Given the description of an element on the screen output the (x, y) to click on. 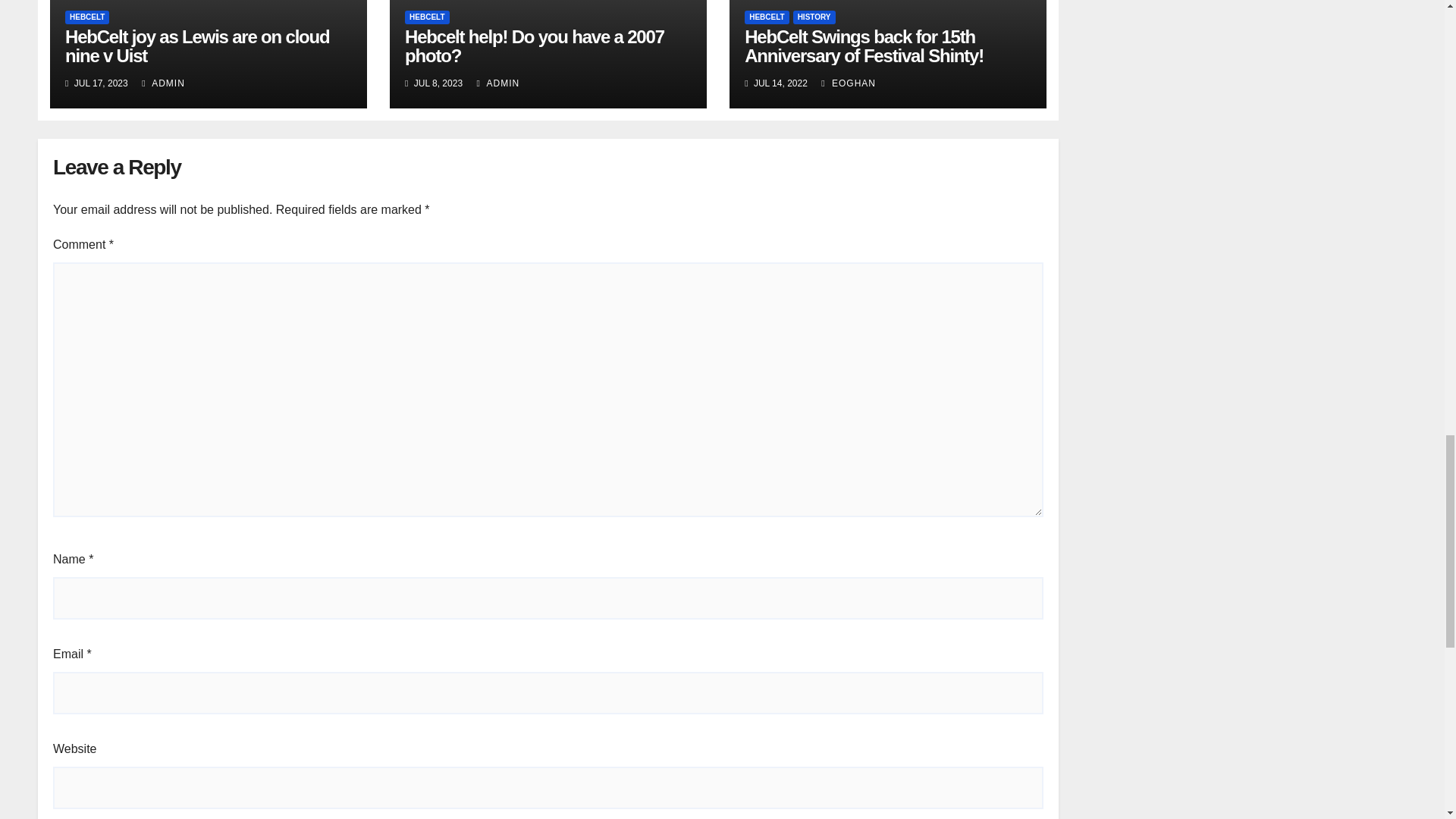
Permalink to: HebCelt joy as Lewis are on cloud nine v Uist (197, 46)
Permalink to: Hebcelt help! Do you have a 2007 photo? (533, 46)
